Given the description of an element on the screen output the (x, y) to click on. 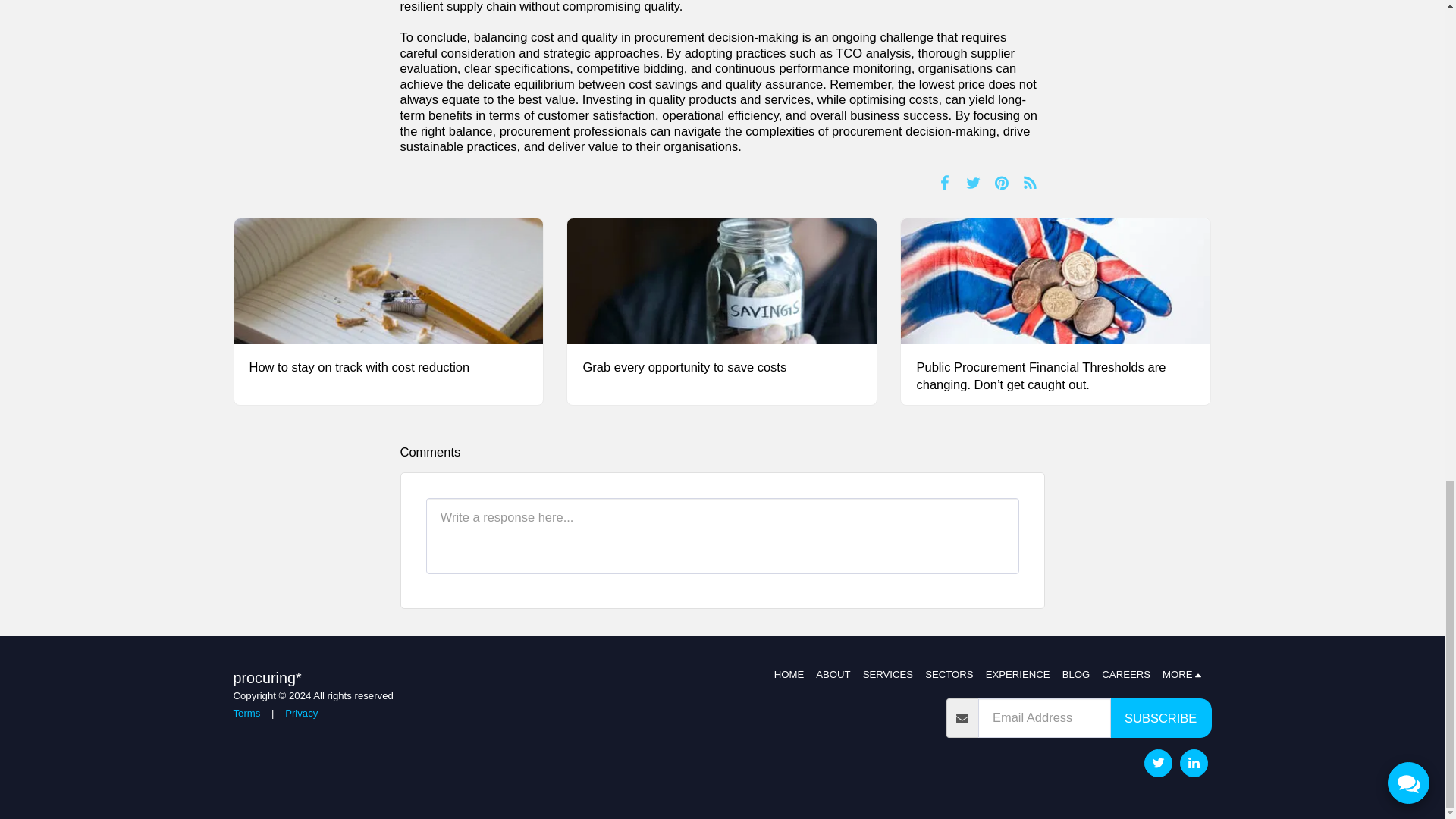
Pin it (1002, 182)
RSS (1029, 182)
Tweet (973, 182)
Share on Facebook (945, 182)
